Given the description of an element on the screen output the (x, y) to click on. 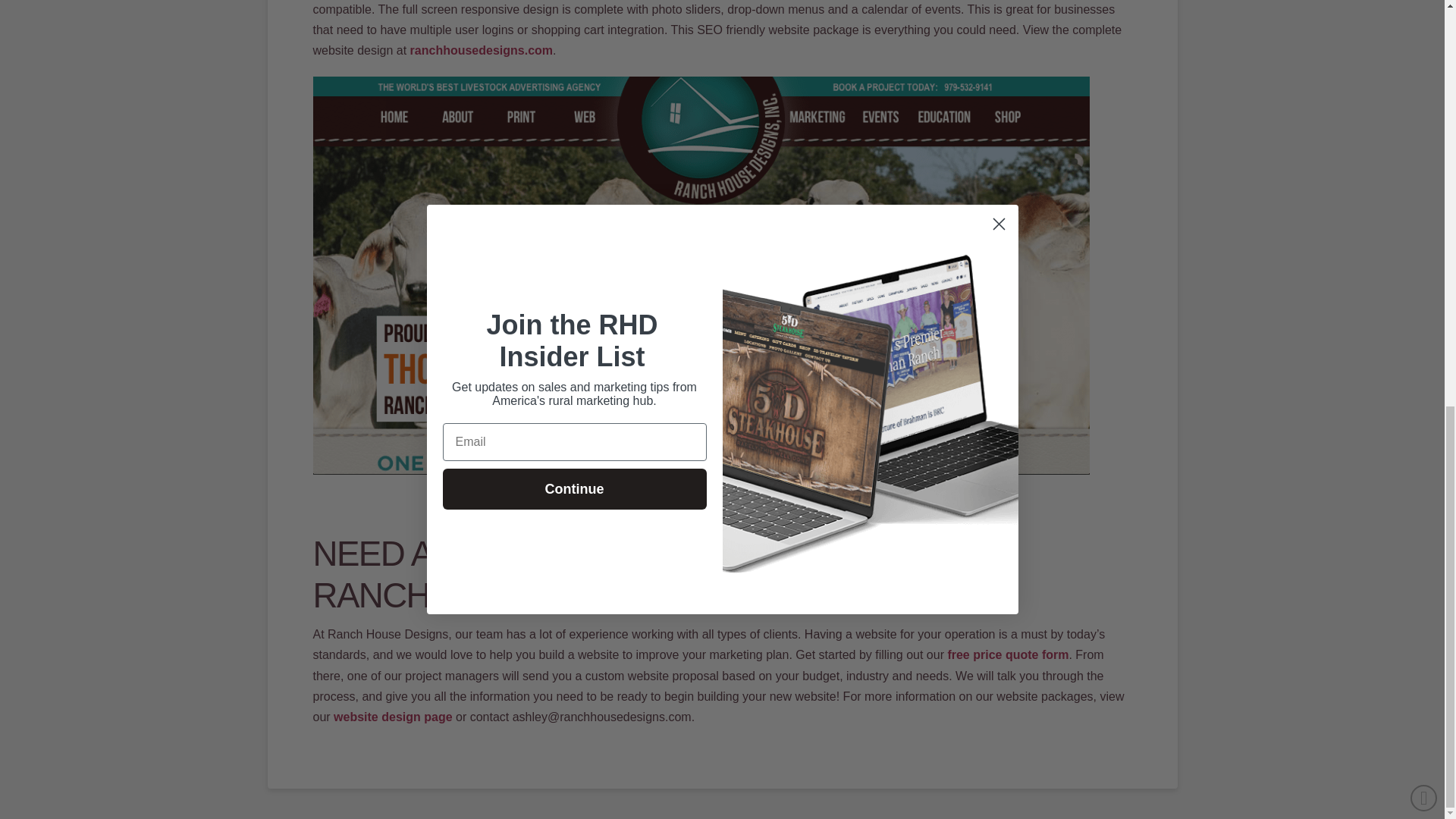
Back to Top (1423, 2)
free price quote form (1005, 654)
ranchhousedesigns.com (481, 50)
website design page (392, 716)
